Given the description of an element on the screen output the (x, y) to click on. 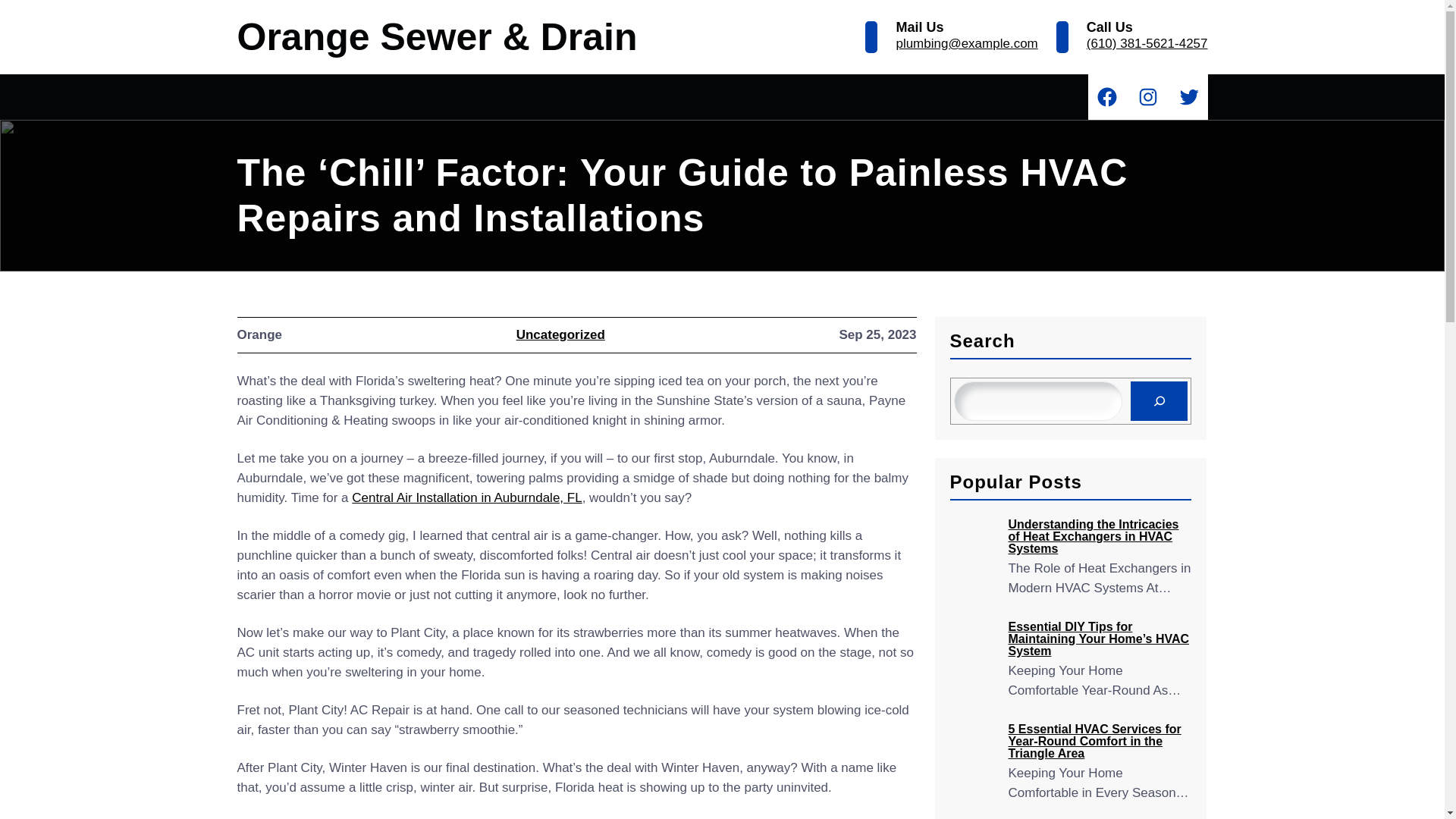
Uncategorized (560, 334)
Instagram (1146, 96)
Central Air Installation in Auburndale, FL (466, 497)
Twitter (1187, 96)
Facebook (1106, 96)
